Given the description of an element on the screen output the (x, y) to click on. 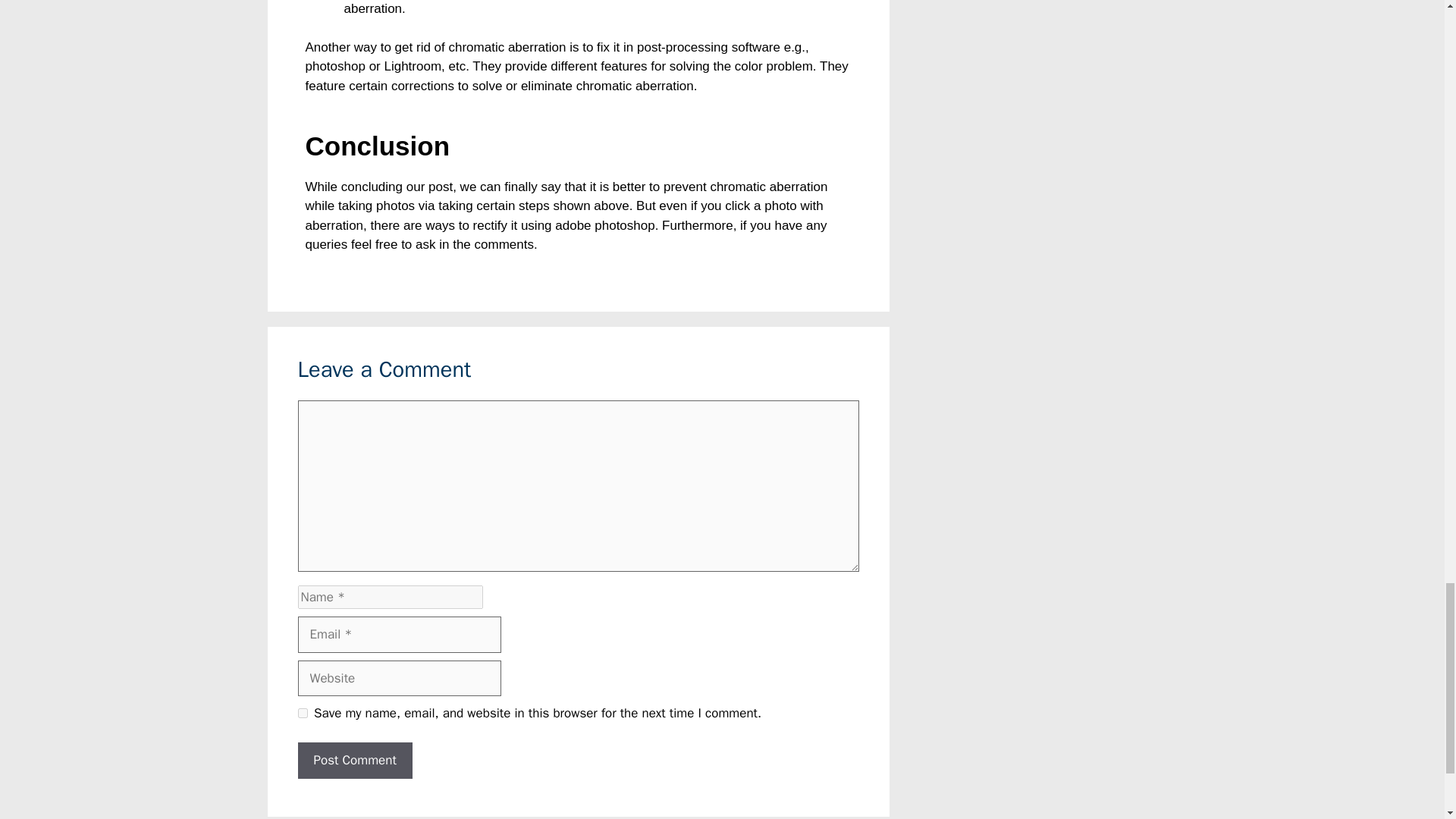
Post Comment (354, 760)
Post Comment (354, 760)
yes (302, 713)
